Given the description of an element on the screen output the (x, y) to click on. 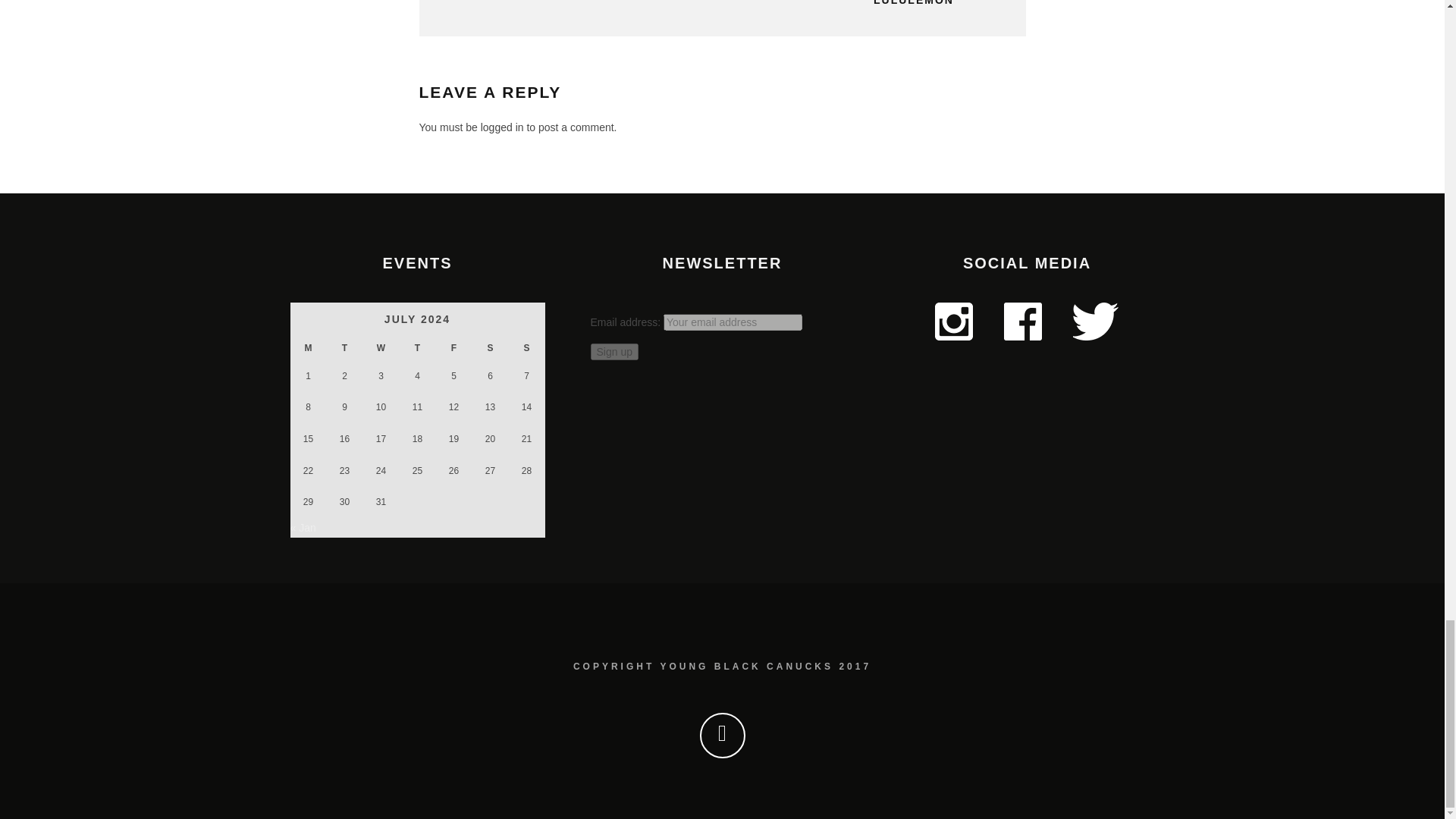
Tuesday (344, 348)
Wednesday (380, 348)
Thursday (416, 348)
Sunday (526, 348)
Monday (307, 348)
Saturday (489, 348)
logged in (502, 127)
Friday (453, 348)
YBC KEMETIC YOGA AT LULULEMON (861, 3)
Sign up (613, 351)
Sign up (613, 351)
